Given the description of an element on the screen output the (x, y) to click on. 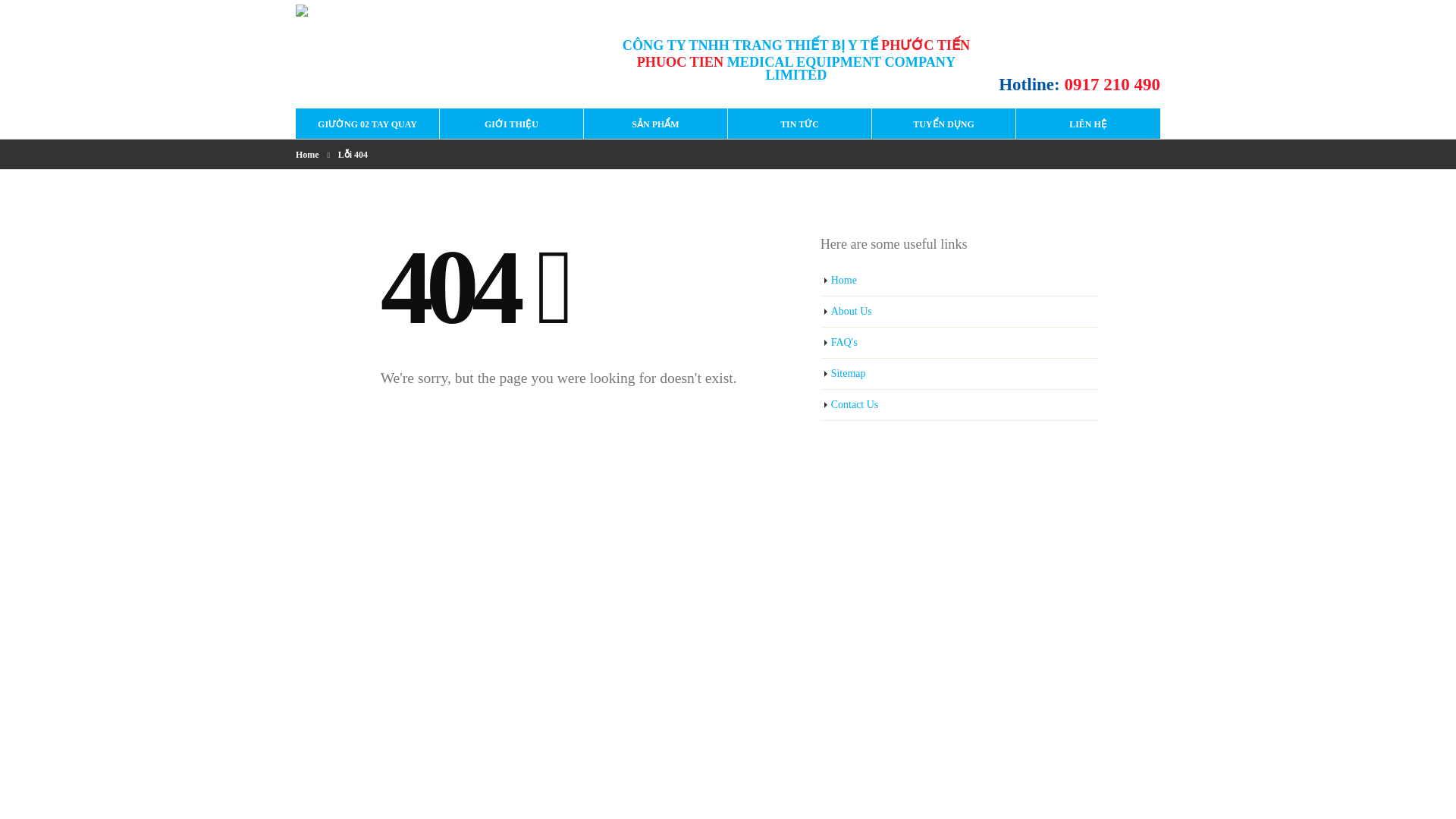
Home (960, 280)
About Us (960, 311)
Home (306, 154)
Sitemap (960, 373)
FAQ's (960, 342)
Contact Us (960, 404)
